Given the description of an element on the screen output the (x, y) to click on. 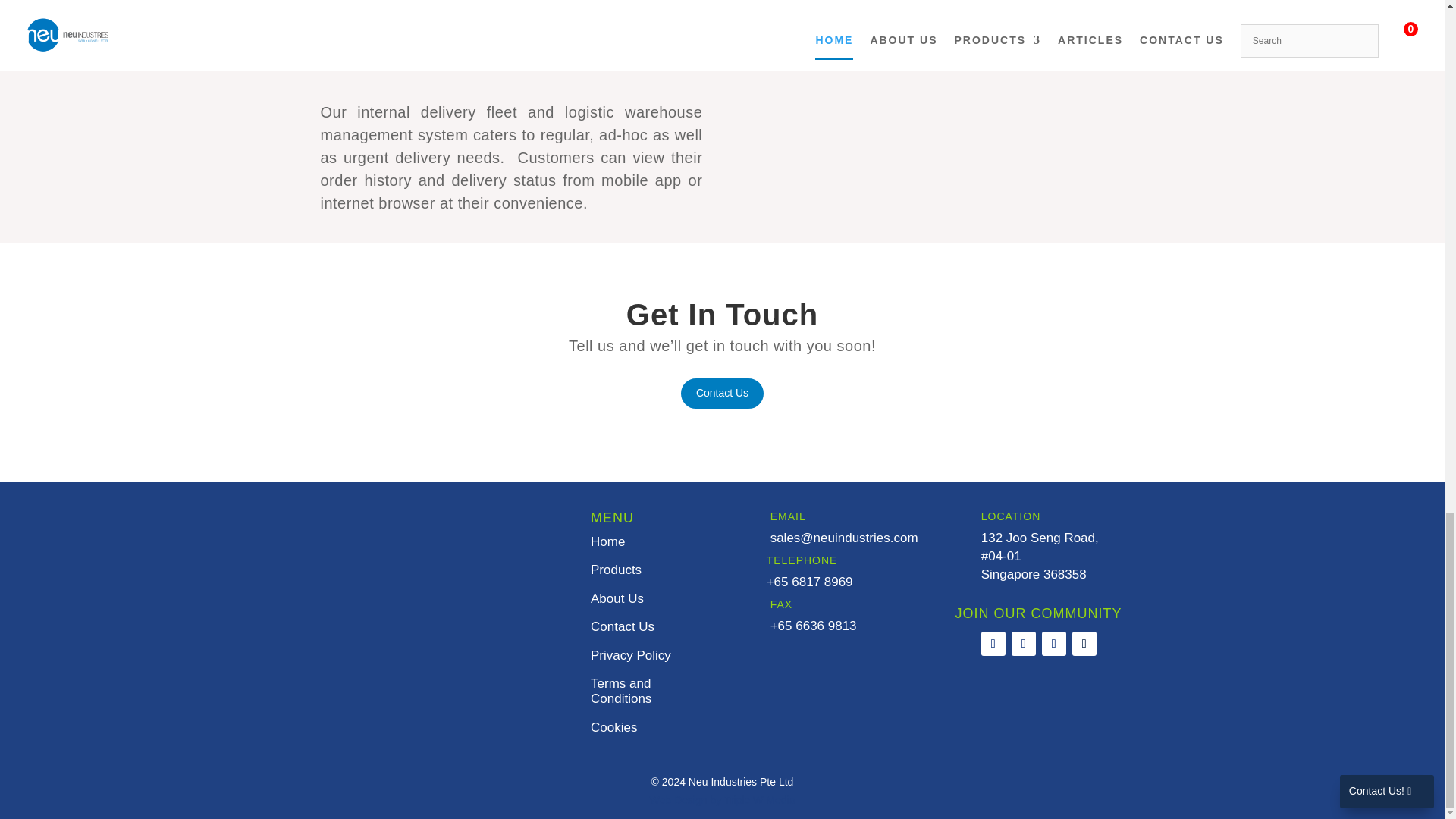
Follow on Youtube (1083, 643)
Privacy Policy Page (631, 655)
Follow on LinkedIn (1053, 643)
Cookies Page (614, 727)
Follow on Facebook (1023, 643)
Terms and Conditions (620, 690)
Follow on Instagram (993, 643)
